Given the description of an element on the screen output the (x, y) to click on. 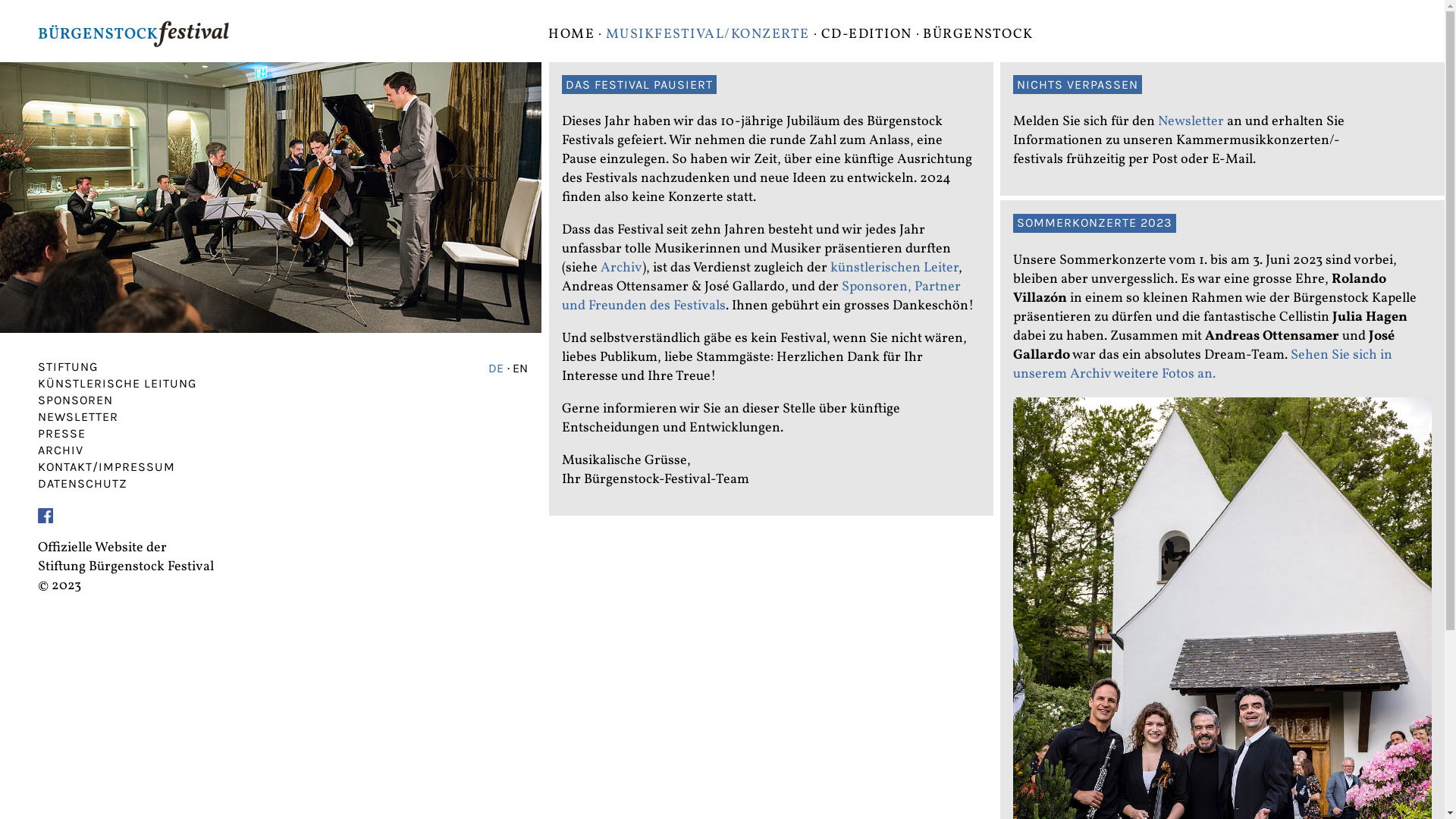
MUSIKFESTIVAL/KONZERTE Element type: text (707, 34)
Sehen Sie sich in unserem Archiv weitere Fotos an. Element type: text (1202, 364)
Newsletter Element type: text (1190, 121)
HOME Element type: text (571, 34)
PRESSE Element type: text (61, 433)
Sponsoren, Partner und Freunden des Festivals Element type: text (760, 296)
ARCHIV Element type: text (60, 449)
DATENSCHUTZ Element type: text (82, 483)
KONTAKT/IMPRESSUM Element type: text (106, 466)
DE Element type: text (495, 367)
SPONSOREN Element type: text (74, 399)
CD-EDITION Element type: text (866, 34)
EN Element type: text (519, 367)
STIFTUNG Element type: text (67, 366)
Archiv Element type: text (621, 267)
NEWSLETTER Element type: text (77, 416)
